Given the description of an element on the screen output the (x, y) to click on. 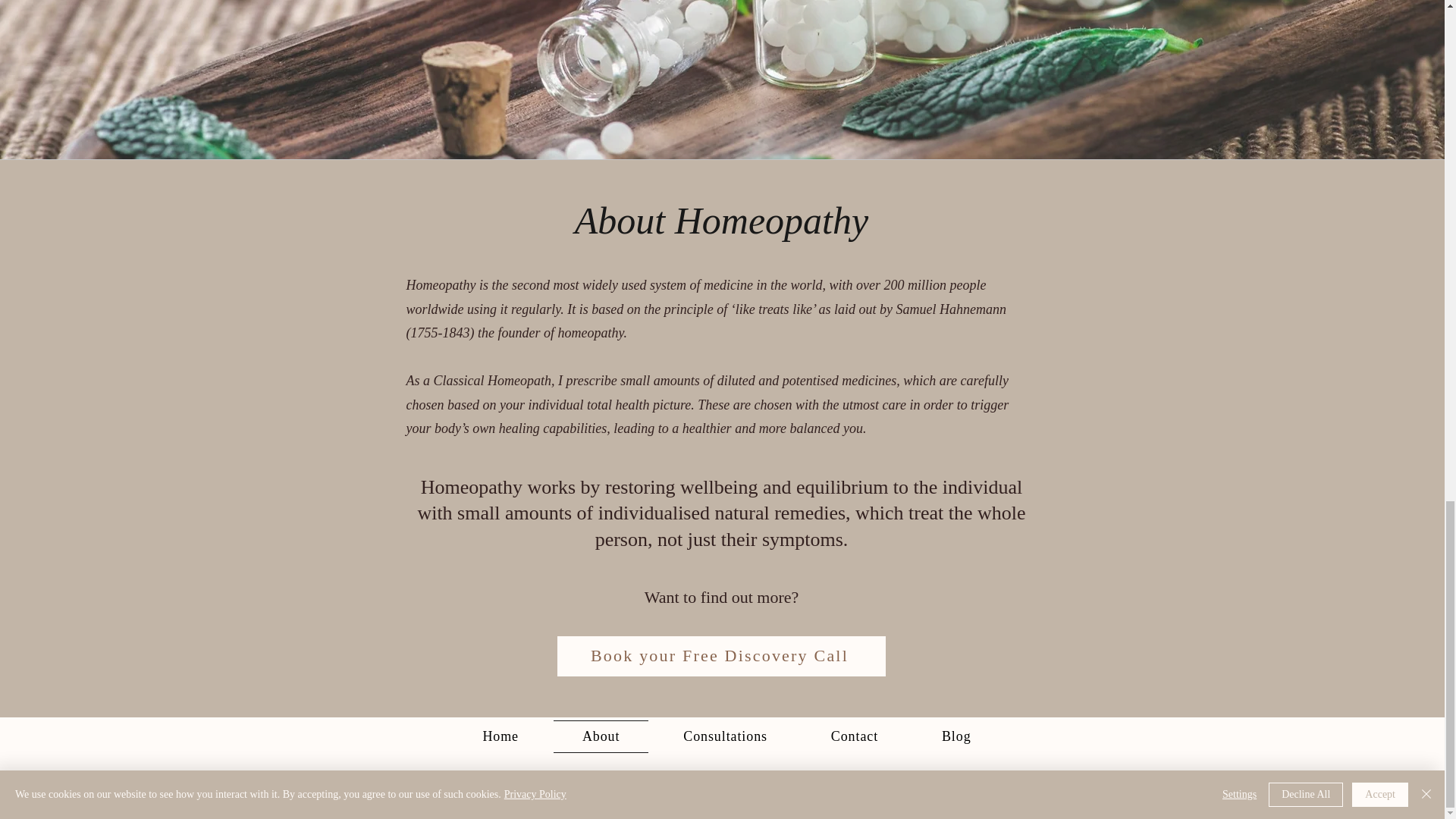
Consultations (724, 736)
Book your Free Discovery Call (720, 656)
Home (499, 736)
About (600, 736)
Contact (854, 736)
Blog (955, 736)
